Given the description of an element on the screen output the (x, y) to click on. 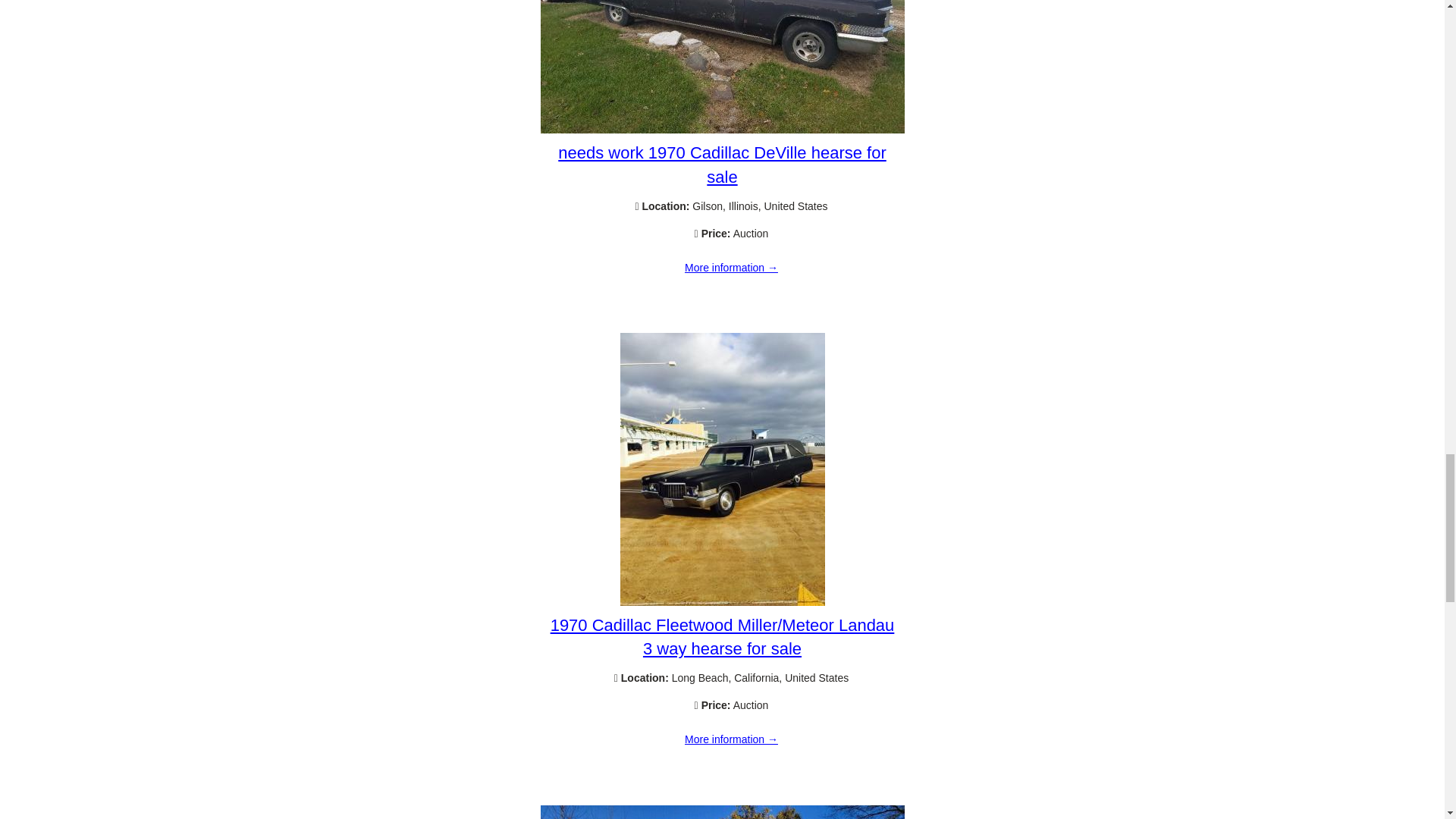
needs work 1970 Cadillac DeVille hearse for sale (722, 129)
needs work 1970 Cadillac DeVille hearse for sale (721, 164)
needs work 1970 Cadillac DeVille hearse for sale (731, 267)
